Given the description of an element on the screen output the (x, y) to click on. 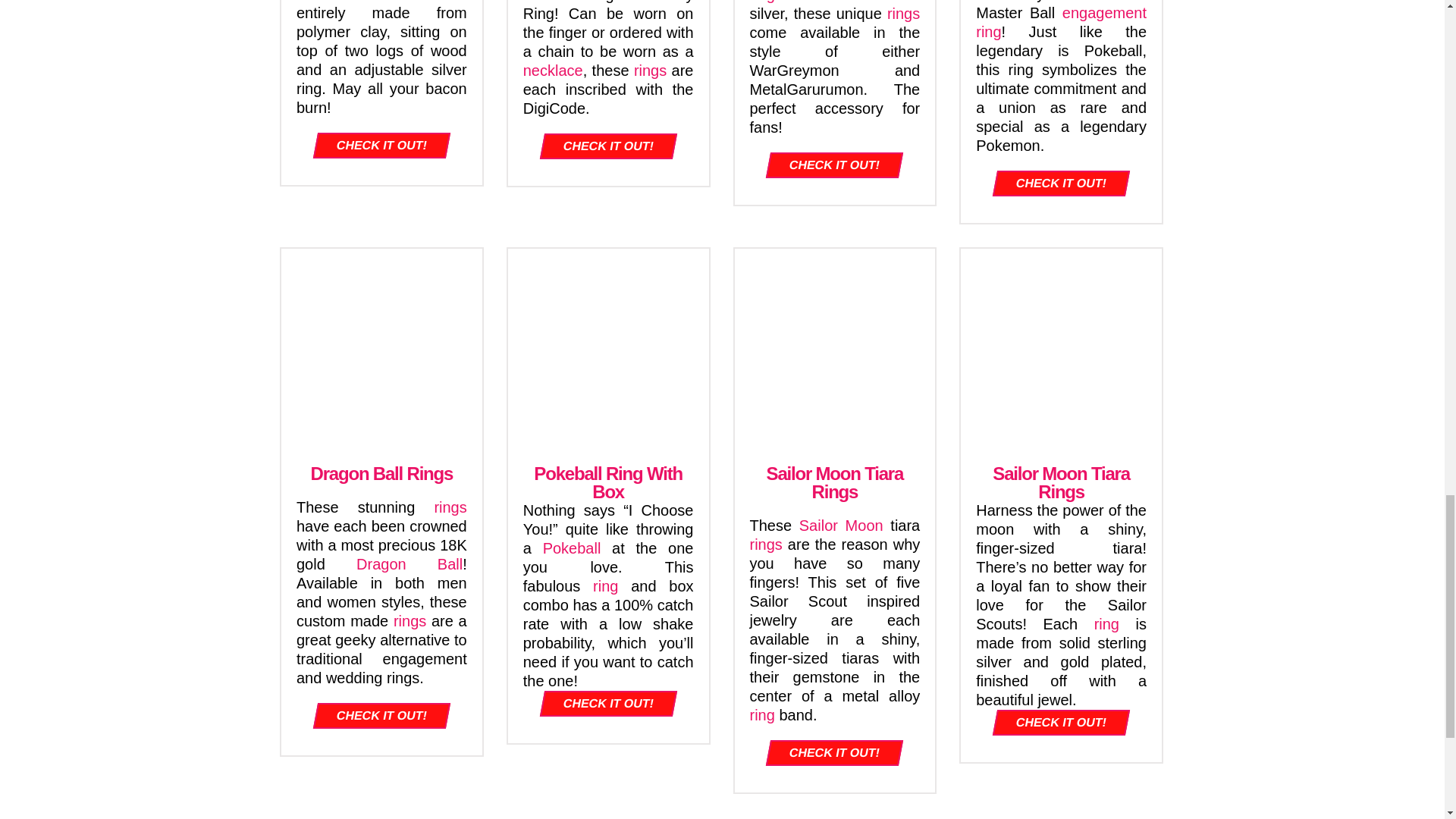
Sailor Moon Tiara Rings - Shut Up And Take My Yen (833, 348)
Sailor Moon Tiara Ring - Shut Up And Take My Yen (1060, 348)
Dragon Ball Z Rings - Shut Up And Take My Yen (381, 348)
Pokeball Ring With Box - Shut Up And Take My Yen (608, 348)
